Given the description of an element on the screen output the (x, y) to click on. 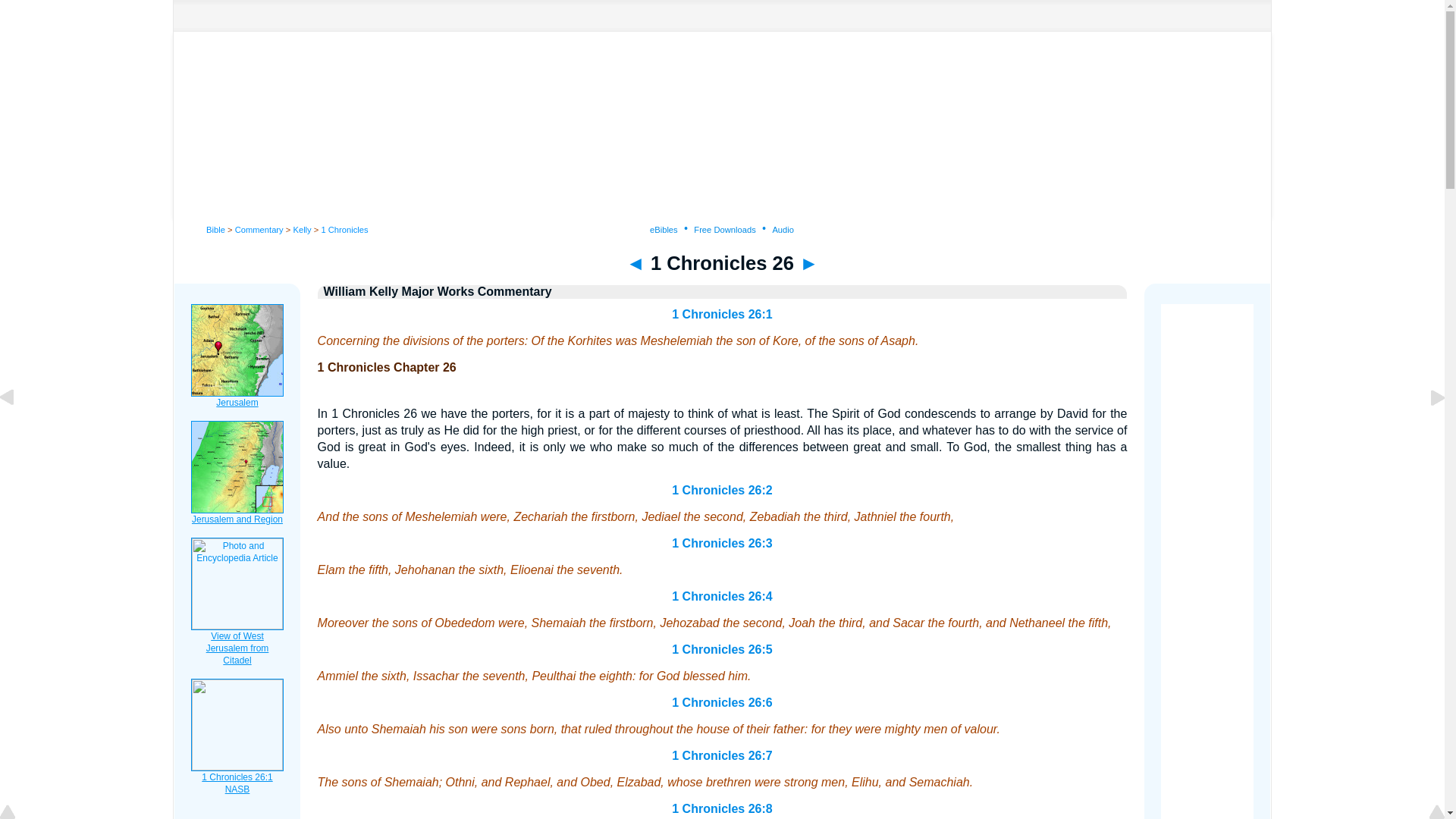
1 Chronicles 26:2 (722, 490)
1 Chronicles 26:1 (722, 314)
1 Chronicles 27 (808, 262)
1 Chronicles (344, 229)
1 Chronicles 26:6 (722, 702)
1 Chronicles 25 (635, 262)
1 Chronicles 26:8 (722, 808)
1 Chronicles 26:5 (722, 649)
Top of Page (18, 813)
Kelly (301, 229)
